Given the description of an element on the screen output the (x, y) to click on. 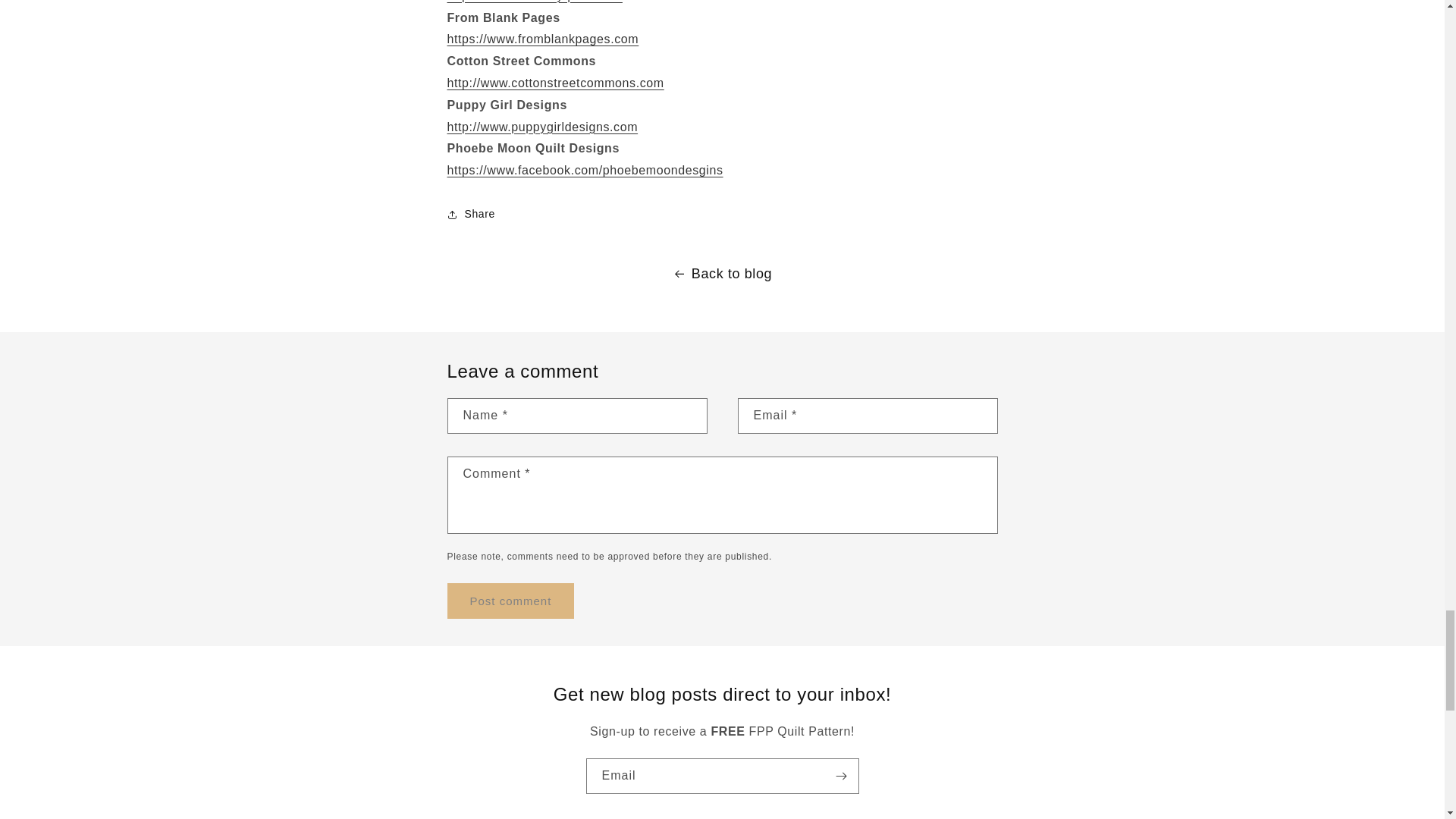
Post comment (510, 601)
